Given the description of an element on the screen output the (x, y) to click on. 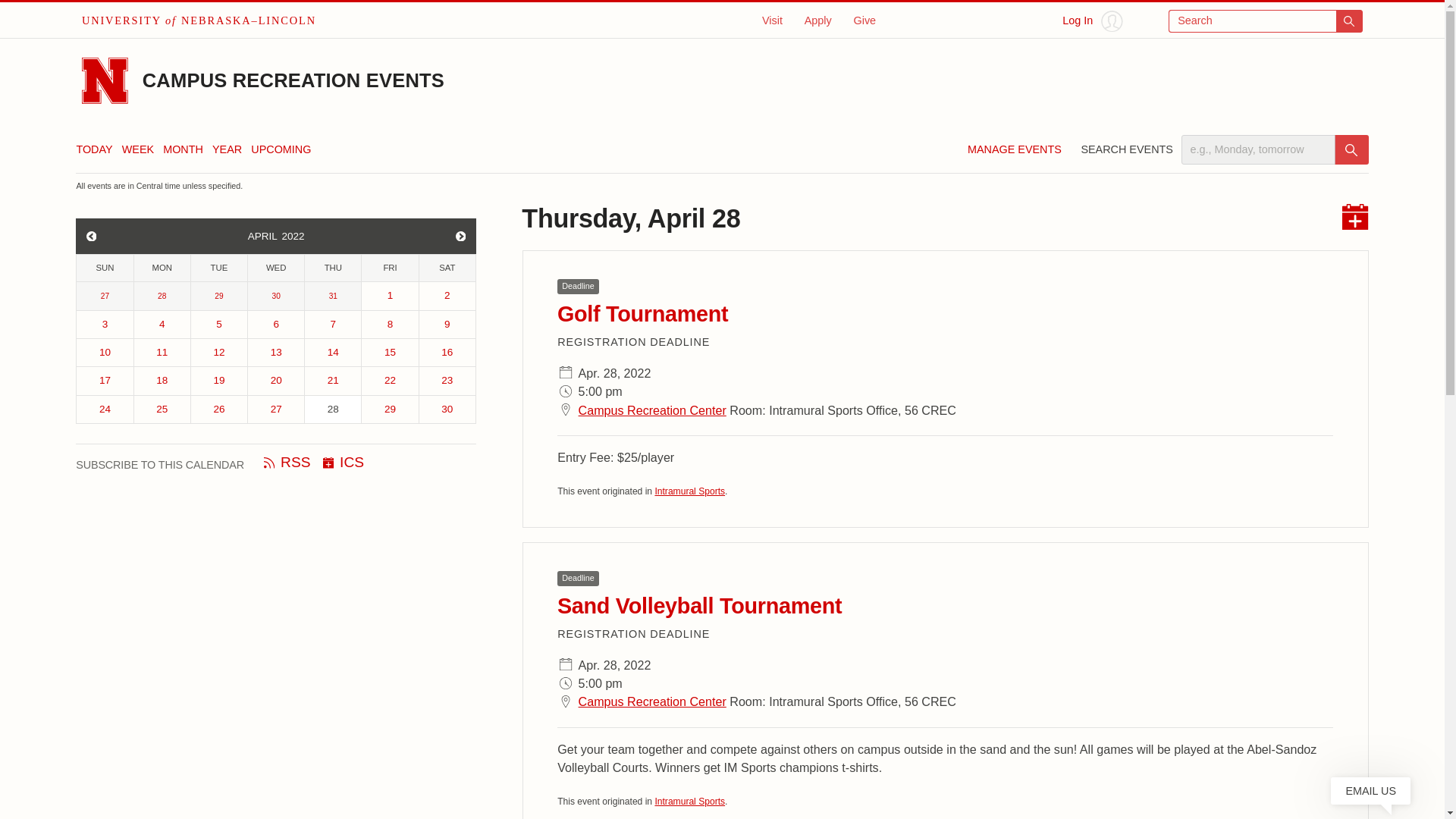
29 (218, 295)
Saturday (447, 267)
Search (1265, 21)
31 (332, 295)
3 (104, 324)
2 (447, 295)
Thursday (332, 267)
27 (104, 295)
30 (275, 295)
Search (1351, 150)
2022 (297, 235)
Visit (772, 20)
Apply (818, 20)
Log In (1092, 21)
